Given the description of an element on the screen output the (x, y) to click on. 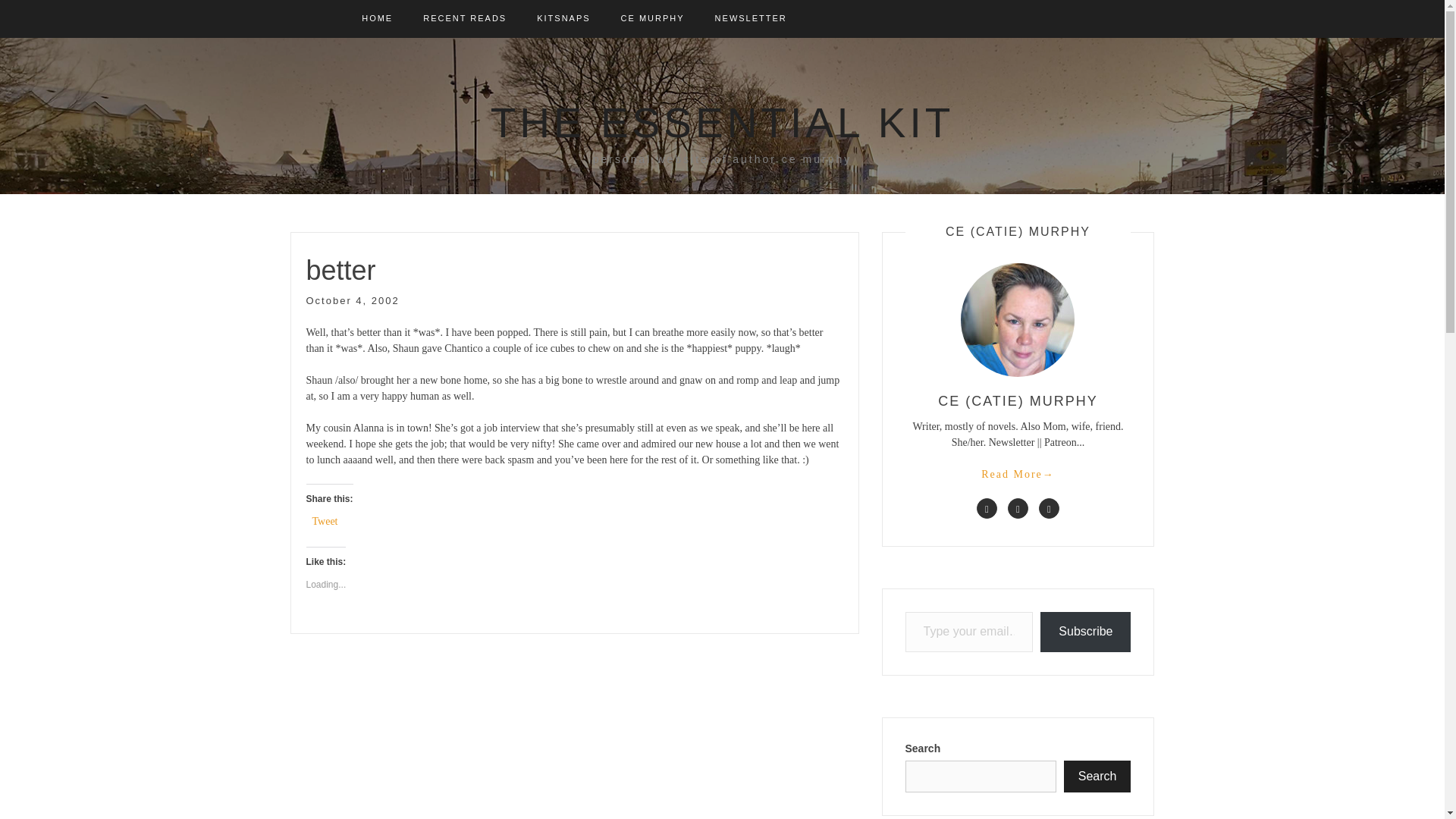
instagram (1049, 507)
Tweet (325, 520)
twitter (1017, 507)
Subscribe (1086, 631)
Please fill in this field. (969, 631)
Search (1097, 776)
facebook (986, 507)
KITSNAPS (563, 18)
RECENT READS (464, 18)
THE ESSENTIAL KIT (722, 122)
